Given the description of an element on the screen output the (x, y) to click on. 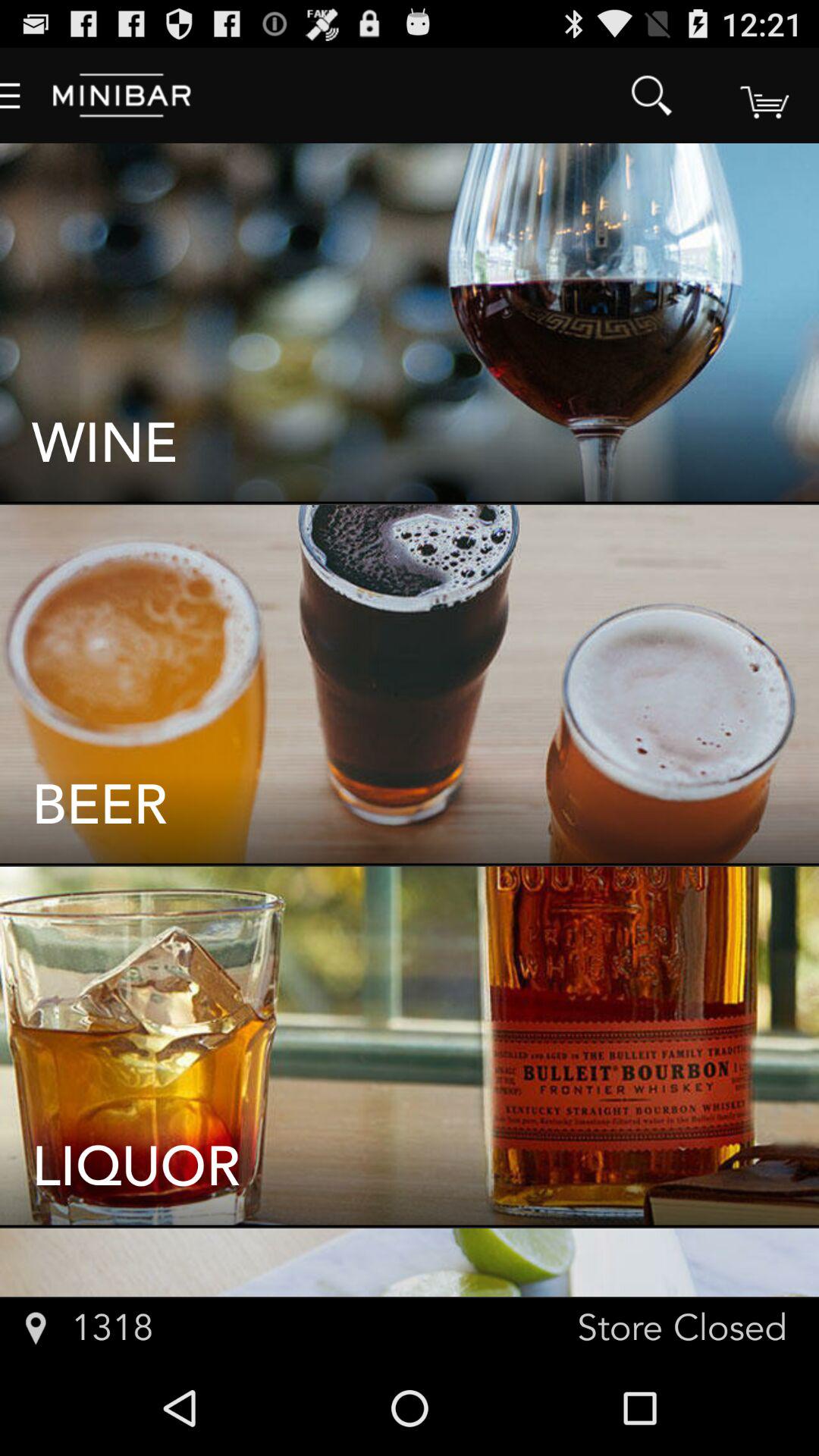
seach page (763, 95)
